Given the description of an element on the screen output the (x, y) to click on. 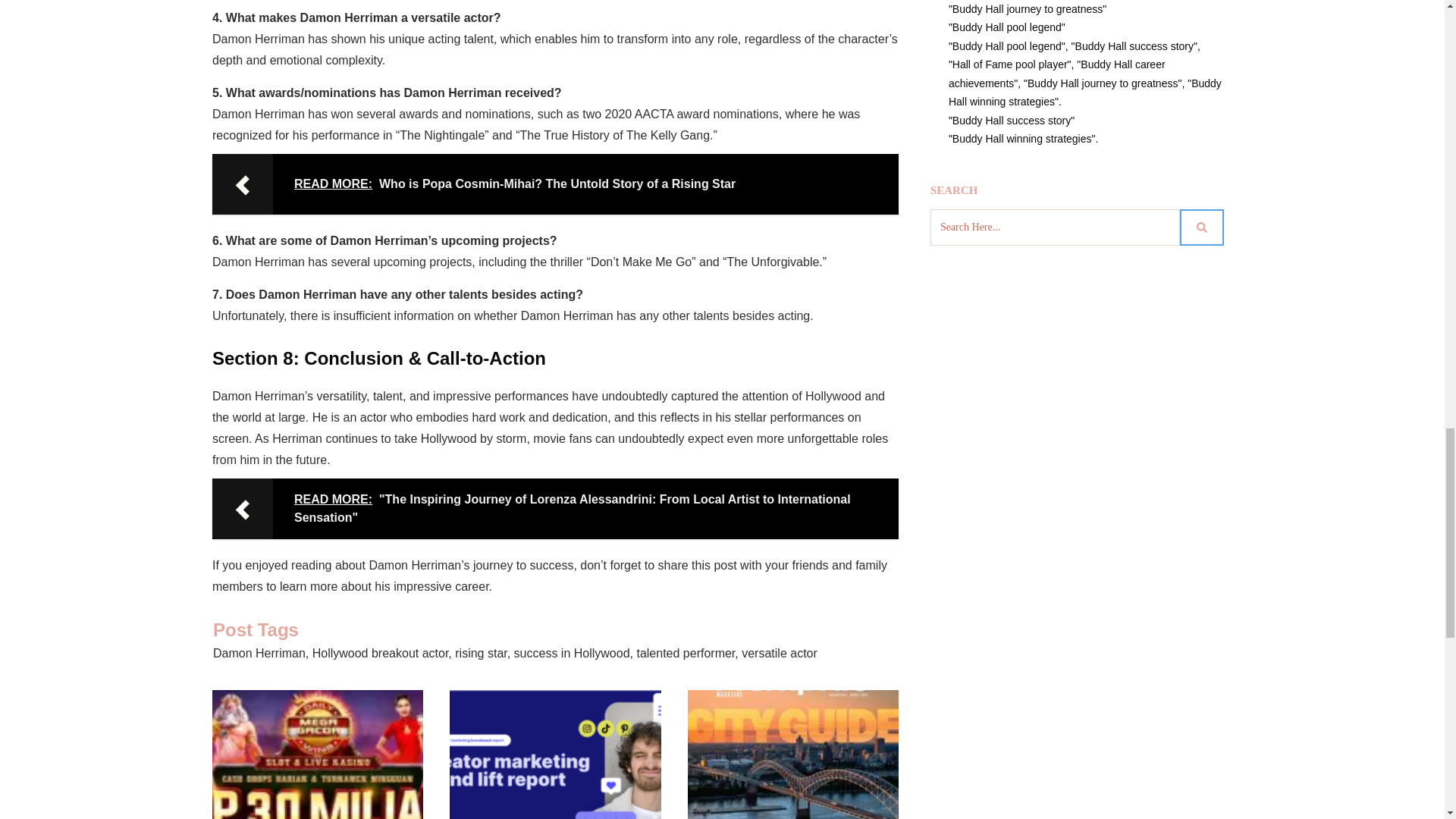
talented performer (685, 653)
rising star (480, 653)
rising star (480, 653)
Hollywood breakout actor (380, 653)
versatile actor (778, 653)
talented performer (685, 653)
success in Hollywood (571, 653)
versatile actor (778, 653)
Hollywood breakout actor (380, 653)
Damon Herriman (258, 653)
success in Hollywood (571, 653)
Damon Herriman (258, 653)
